Given the description of an element on the screen output the (x, y) to click on. 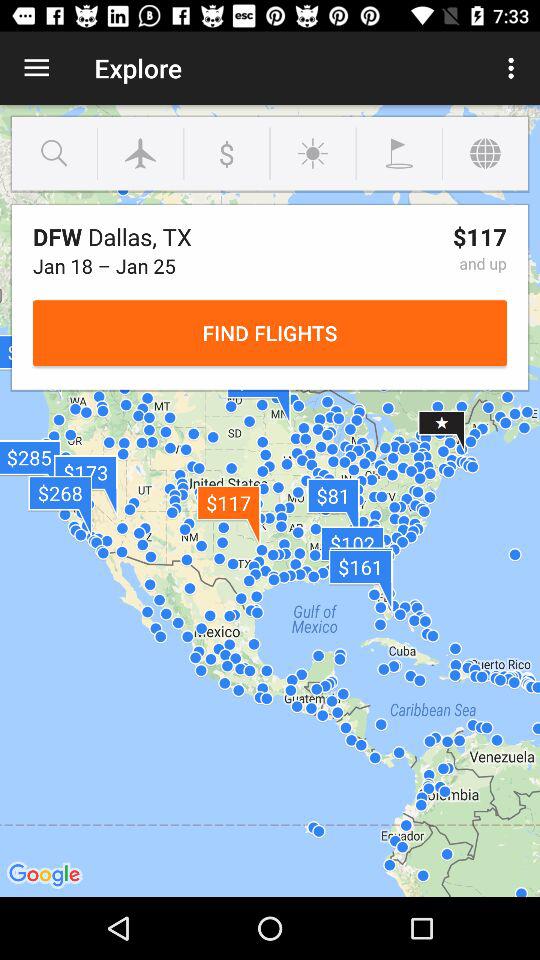
tap the icon to the right of the explore (513, 67)
